Given the description of an element on the screen output the (x, y) to click on. 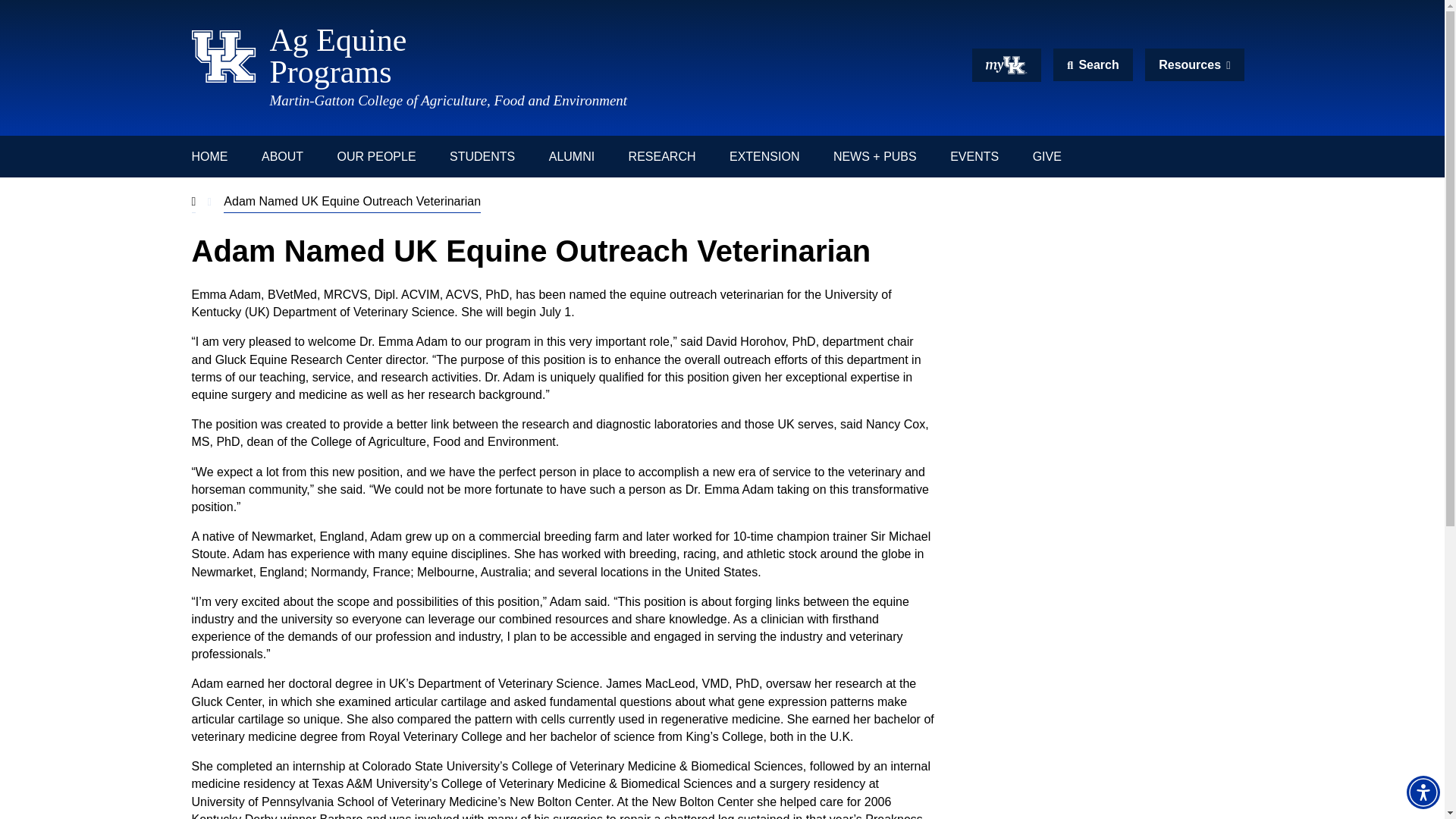
Accessibility Menu (1422, 792)
EVENTS (973, 156)
Resources (560, 55)
Search (1193, 64)
RESEARCH (1092, 64)
Martin-Gatton College of Agriculture, Food and Environment (661, 156)
Log into the myUK portal (448, 100)
STUDENTS (1006, 64)
EXTENSION (481, 156)
